Given the description of an element on the screen output the (x, y) to click on. 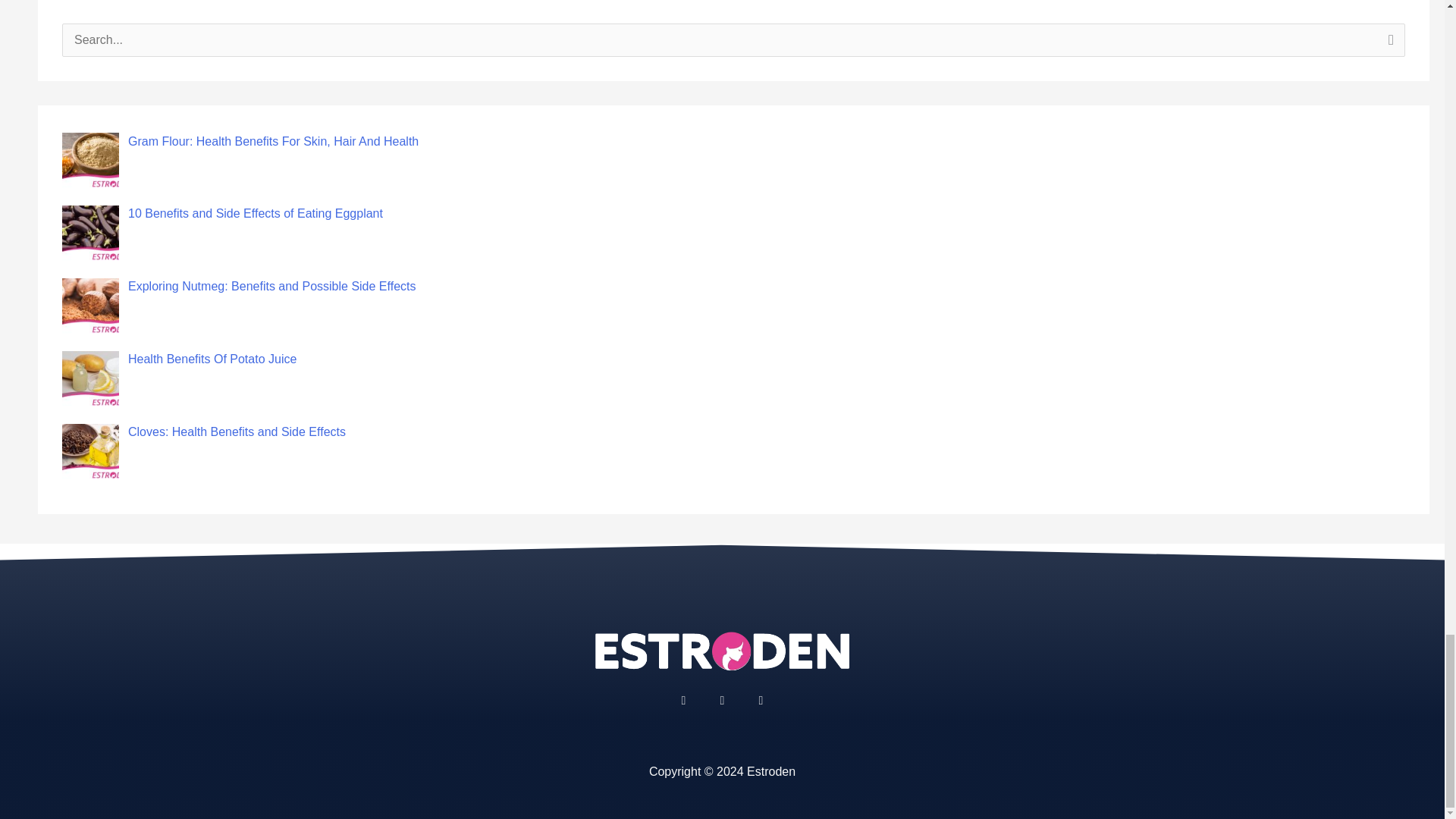
Pinterest (760, 700)
Exploring Nutmeg: Benefits and Possible Side Effects (271, 286)
Gram Flour: Health Benefits For Skin, Hair And Health (273, 141)
Health Benefits Of Potato Juice (212, 358)
Instagram (721, 700)
10 Benefits and Side Effects of Eating Eggplant (255, 213)
Facebook-f (683, 700)
Cloves: Health Benefits and Side Effects (237, 431)
